Given the description of an element on the screen output the (x, y) to click on. 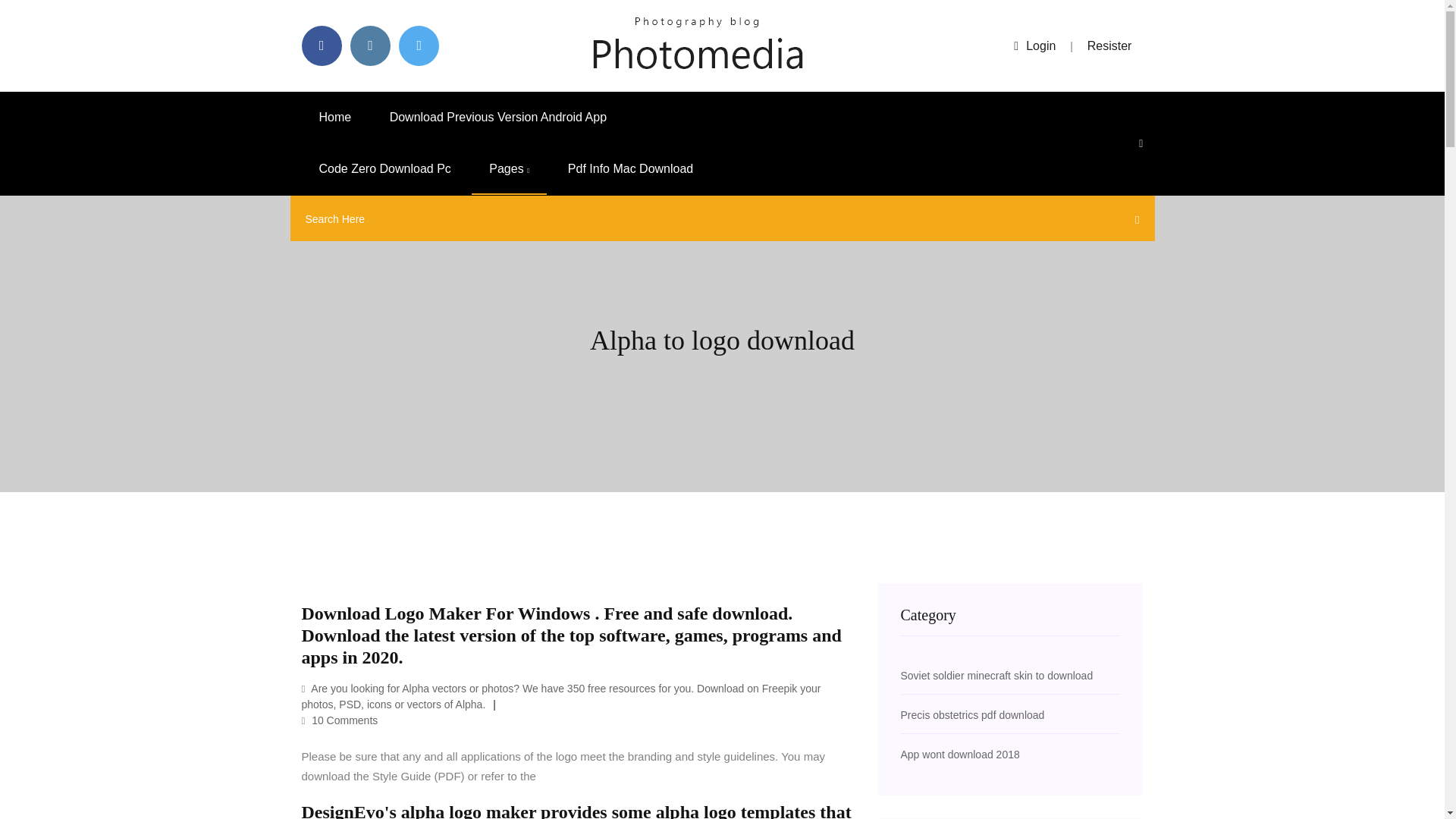
Code Zero Download Pc (384, 168)
Login (1034, 45)
Pages (509, 168)
Resister (1109, 45)
Home (335, 117)
Download Previous Version Android App (498, 117)
10 Comments (339, 720)
Pdf Info Mac Download (630, 168)
